Given the description of an element on the screen output the (x, y) to click on. 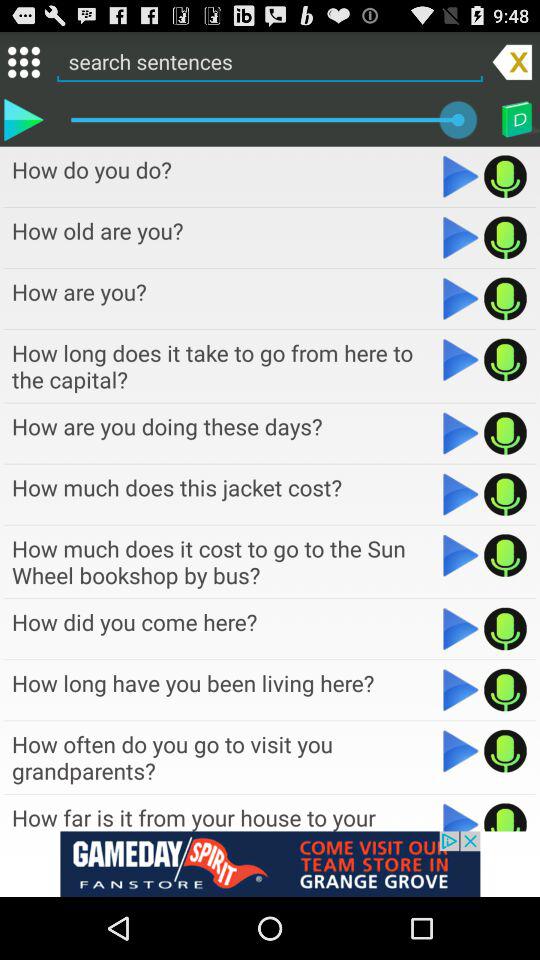
play currently selected sentence (23, 119)
